Given the description of an element on the screen output the (x, y) to click on. 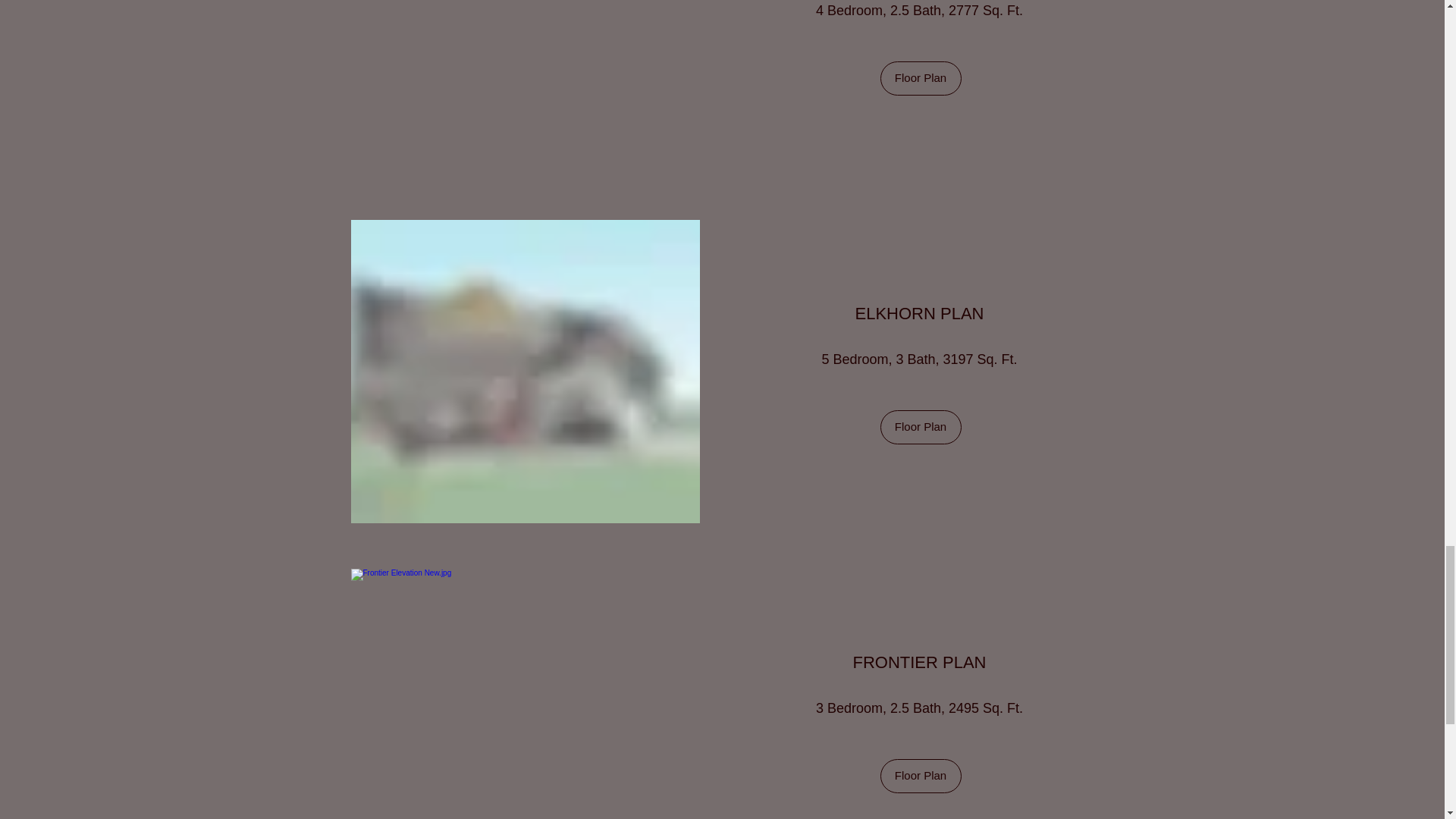
Floor Plan (919, 78)
Floor Plan (919, 776)
Floor Plan (919, 427)
